Given the description of an element on the screen output the (x, y) to click on. 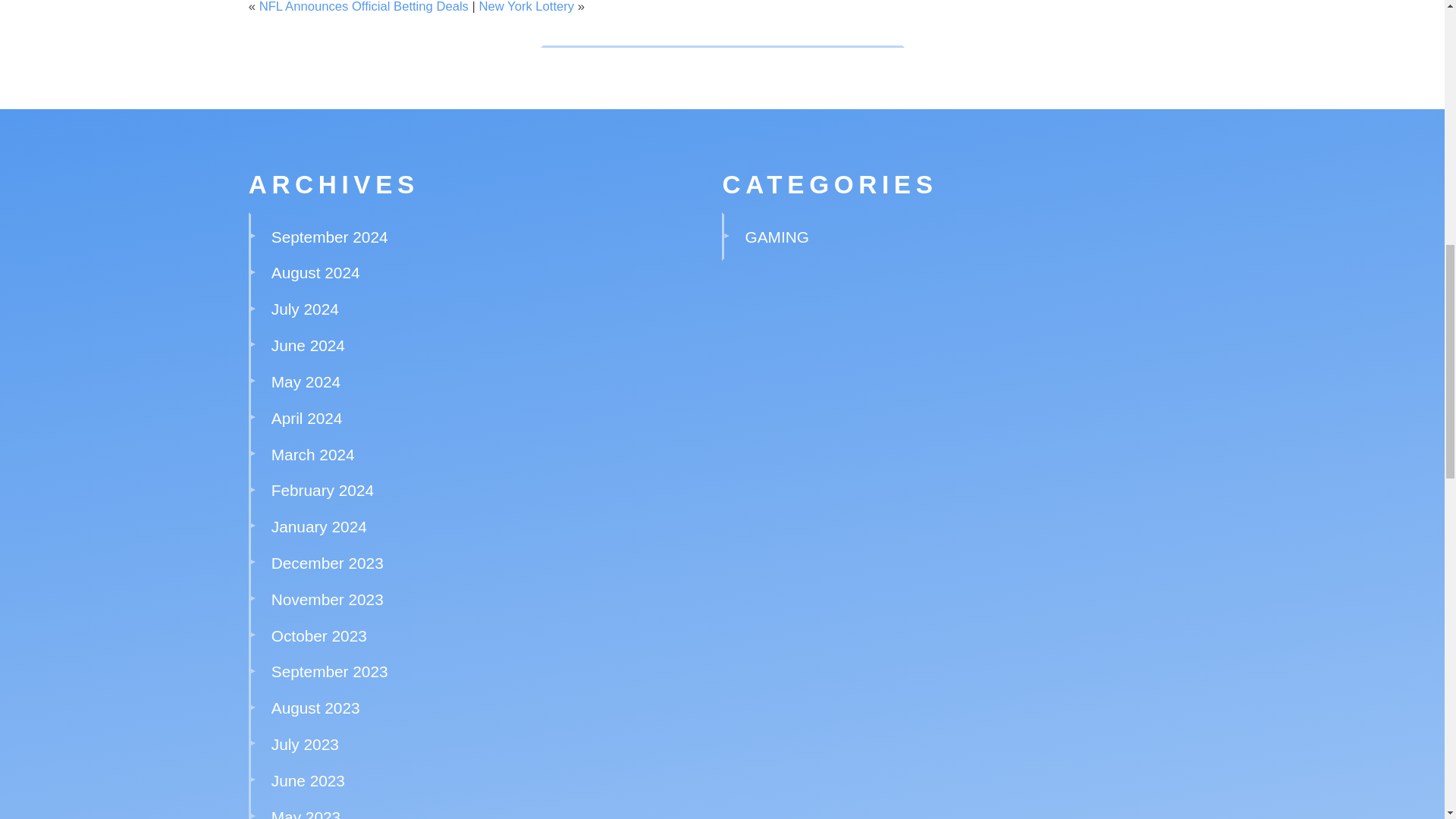
September 2023 (329, 671)
May 2024 (305, 381)
May 2023 (305, 813)
NFL Announces Official Betting Deals (363, 6)
September 2024 (329, 236)
December 2023 (327, 562)
June 2024 (307, 344)
June 2023 (307, 780)
July 2023 (304, 743)
New York Lottery (527, 6)
